Given the description of an element on the screen output the (x, y) to click on. 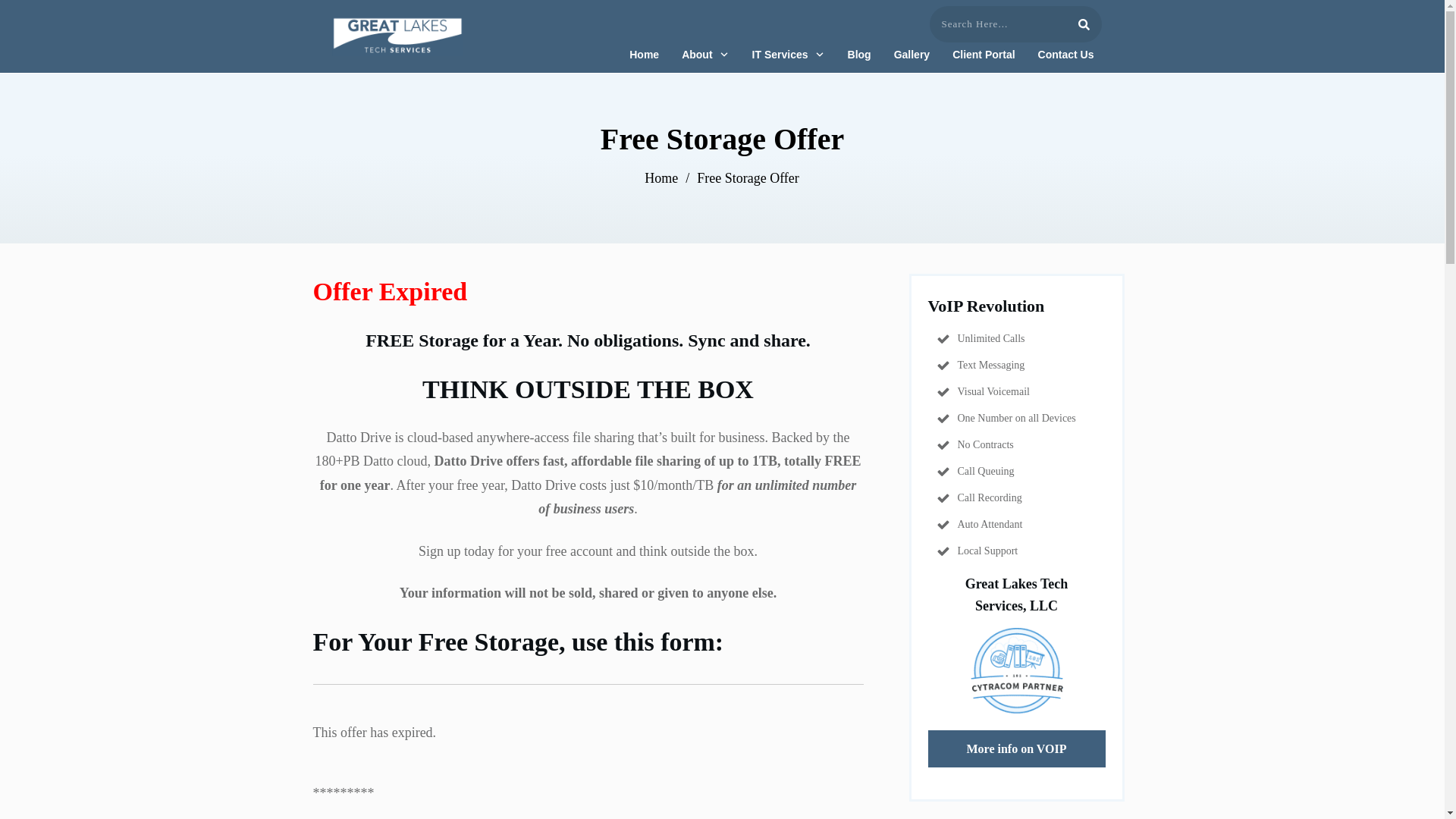
Gallery (911, 54)
IT Services (788, 54)
Blog (858, 54)
Client Portal (983, 54)
Contact Us (1066, 54)
Home (643, 54)
About (705, 54)
Home (661, 178)
More info on VOIP (1016, 749)
